Given the description of an element on the screen output the (x, y) to click on. 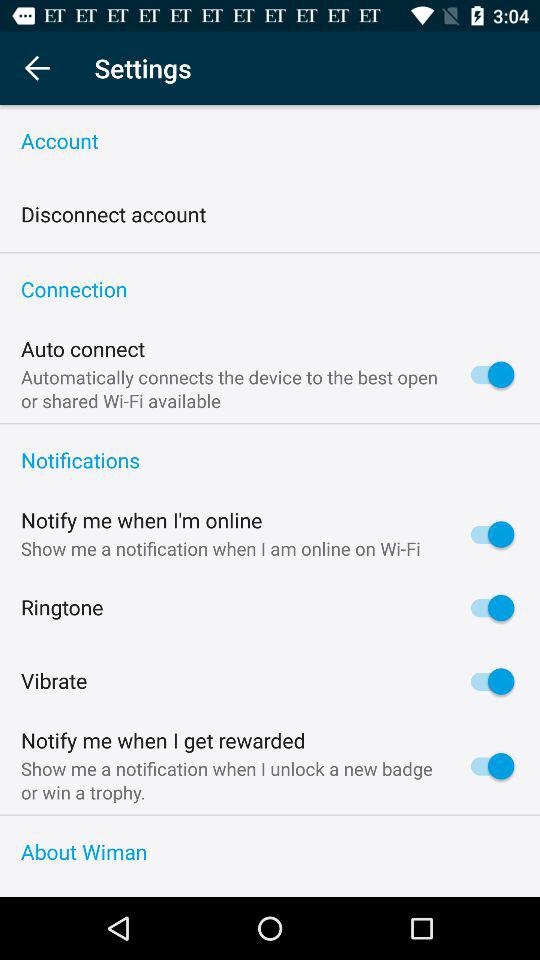
press the icon below show me a item (270, 815)
